Given the description of an element on the screen output the (x, y) to click on. 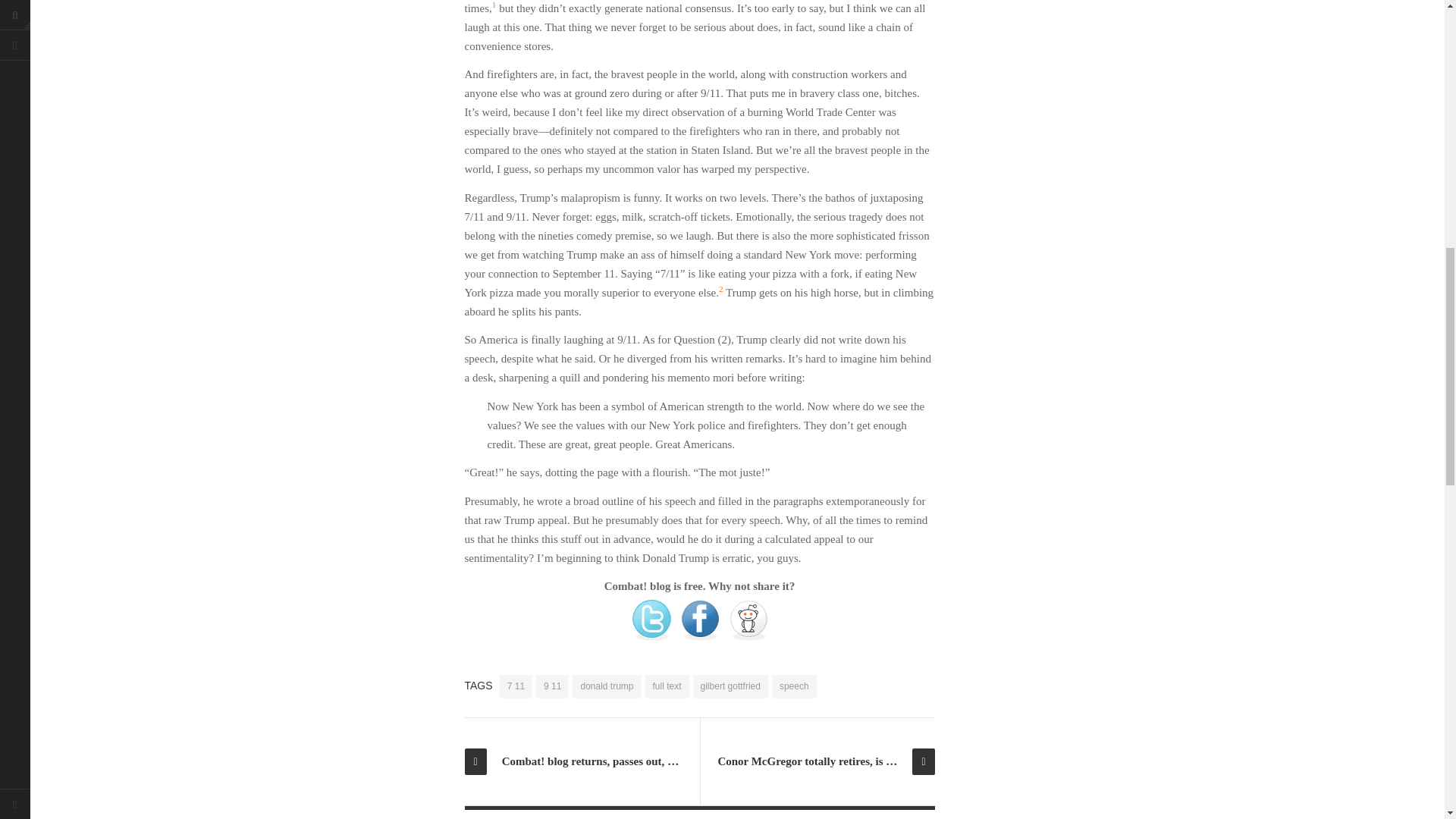
7 11 (515, 686)
Facebook (699, 620)
Twitter (650, 620)
9 11 (552, 686)
full text (666, 686)
gilbert gottfried (730, 686)
speech (793, 686)
donald trump (606, 686)
Reddit (747, 620)
